Given the description of an element on the screen output the (x, y) to click on. 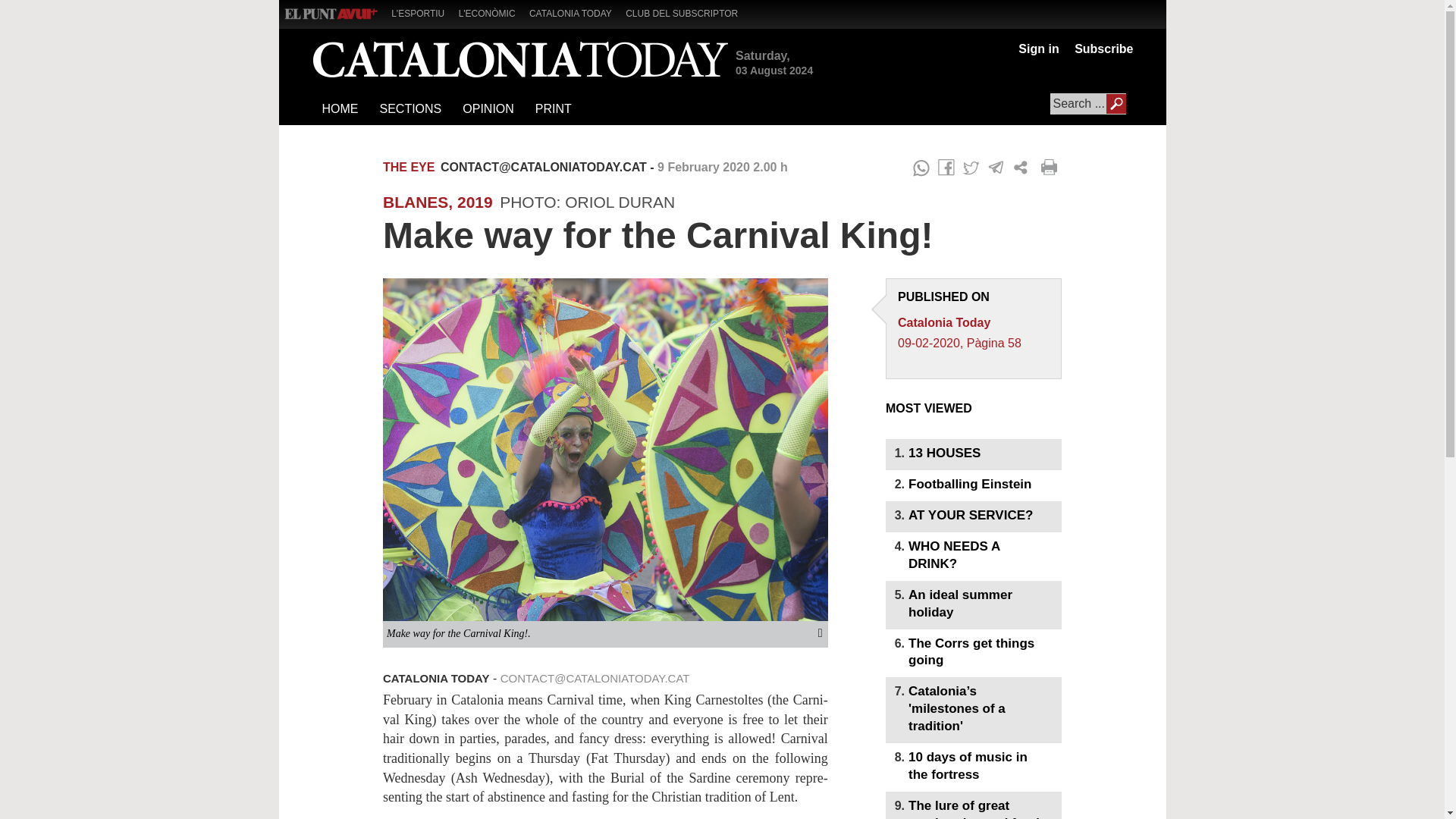
Subscribe (1099, 48)
OPINION (487, 109)
Sign in (1037, 49)
CATALONIA TODAY (576, 12)
Search ... (1087, 103)
L'ESPORTIU (423, 12)
PRINT (552, 109)
El Punt Avui (330, 13)
Share on Twitter (970, 167)
Share on WhatsApp (921, 167)
Search ... (1087, 103)
Share on Facebook (946, 167)
HOME (339, 109)
